Given the description of an element on the screen output the (x, y) to click on. 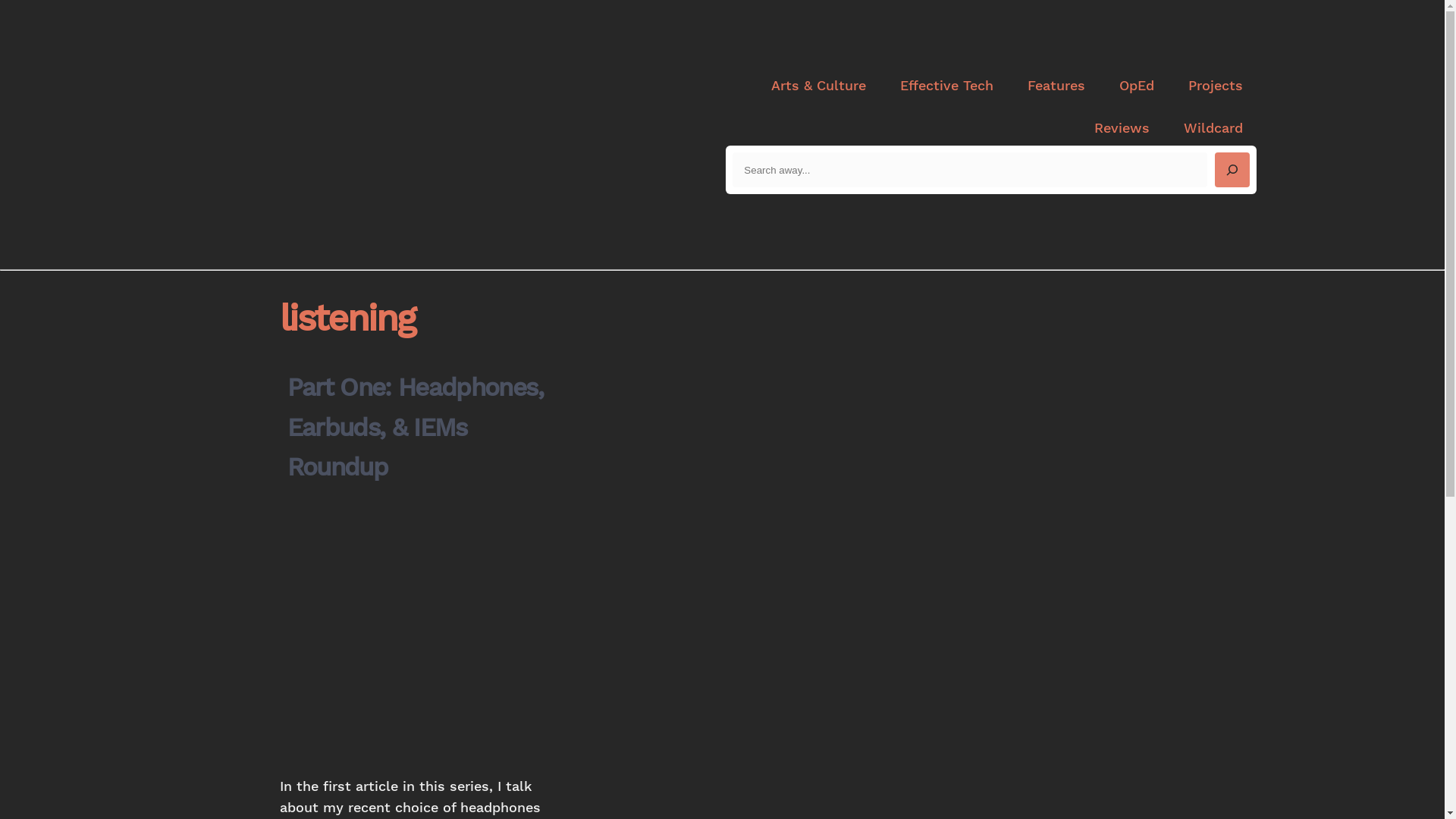
Reviews Element type: text (1120, 128)
Projects Element type: text (1214, 85)
Part One: Headphones, Earbuds, & IEMs Roundup Element type: text (420, 427)
Features Element type: text (1055, 85)
Effective Tech Element type: text (945, 85)
Wildcard Element type: text (1212, 128)
OpEd Element type: text (1136, 85)
Arts & Culture Element type: text (817, 85)
